Given the description of an element on the screen output the (x, y) to click on. 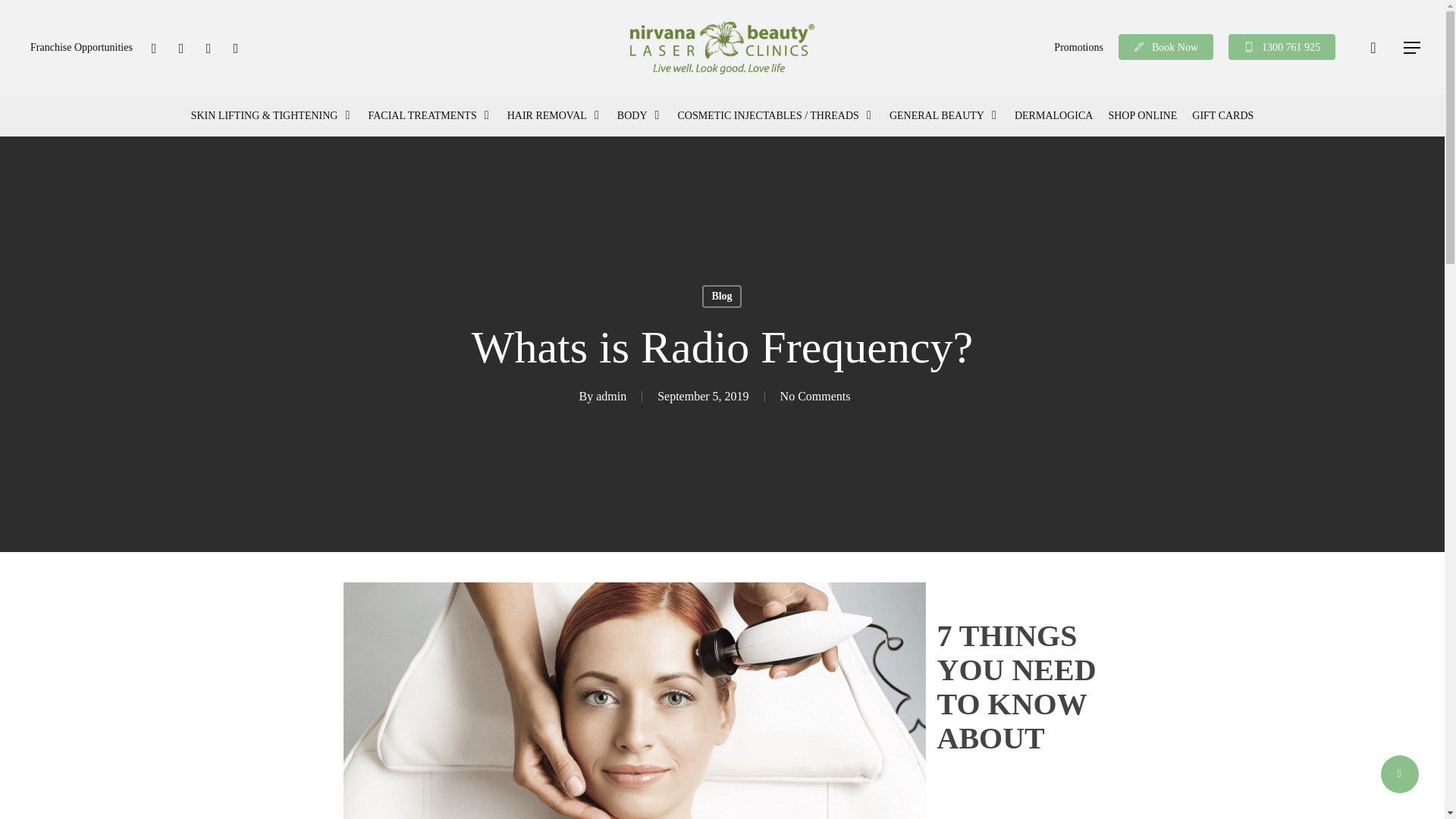
Posts by admin (610, 395)
Menu (1412, 47)
twitter (153, 47)
facebook (181, 47)
Promotions (1078, 47)
1300 761 925 (1281, 47)
youtube (208, 47)
instagram (235, 47)
Franchise Opportunities (81, 47)
FACIAL TREATMENTS (430, 116)
